Given the description of an element on the screen output the (x, y) to click on. 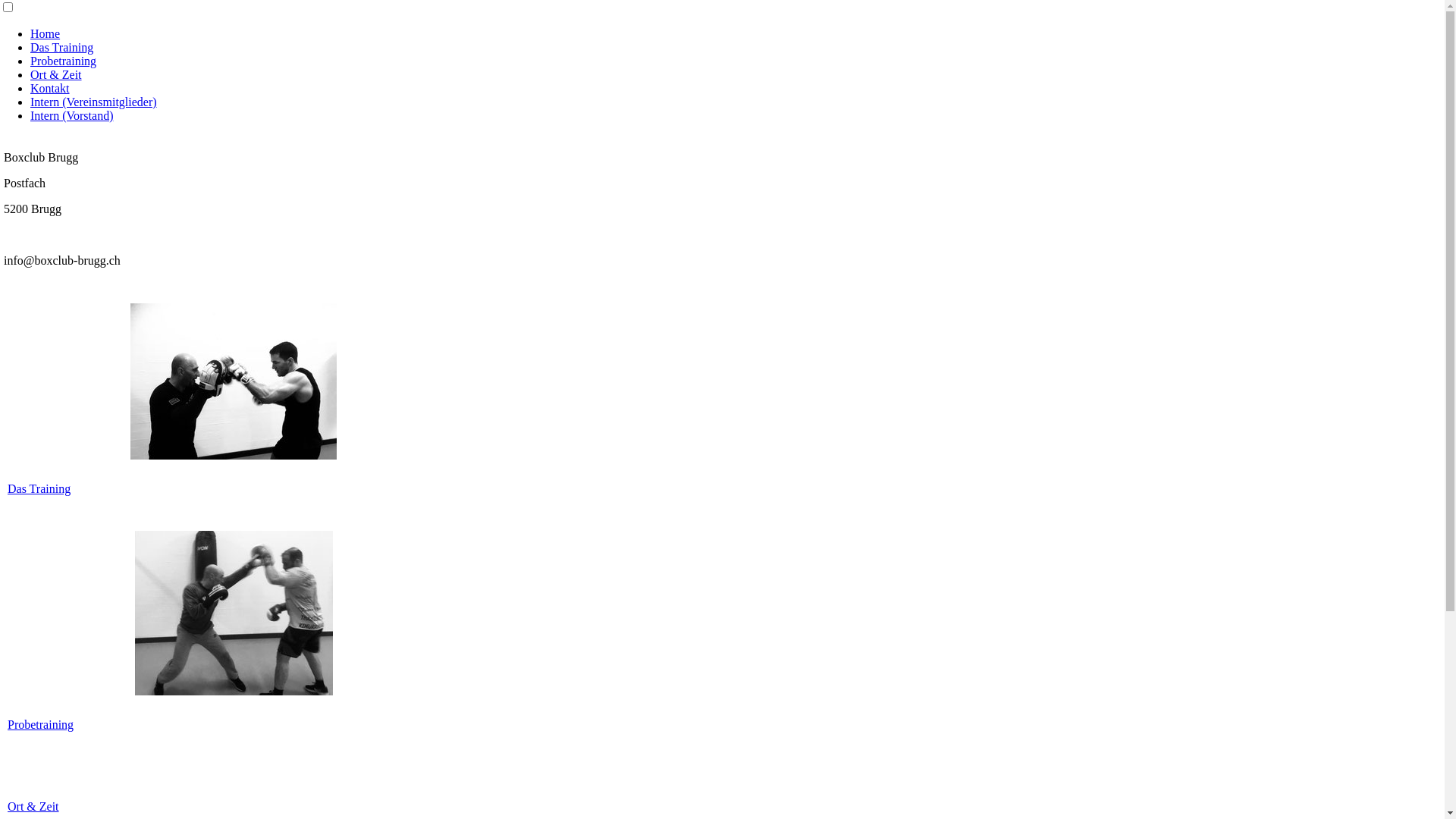
Home Element type: text (44, 33)
Ort & Zeit Element type: text (33, 806)
Probetraining Element type: text (40, 724)
Ort & Zeit Element type: text (55, 74)
Intern (Vereinsmitglieder) Element type: text (93, 101)
Intern (Vorstand) Element type: text (71, 115)
Kontakt Element type: text (49, 87)
Das Training Element type: text (38, 488)
Das Training Element type: text (61, 46)
Probetraining Element type: text (63, 60)
